Given the description of an element on the screen output the (x, y) to click on. 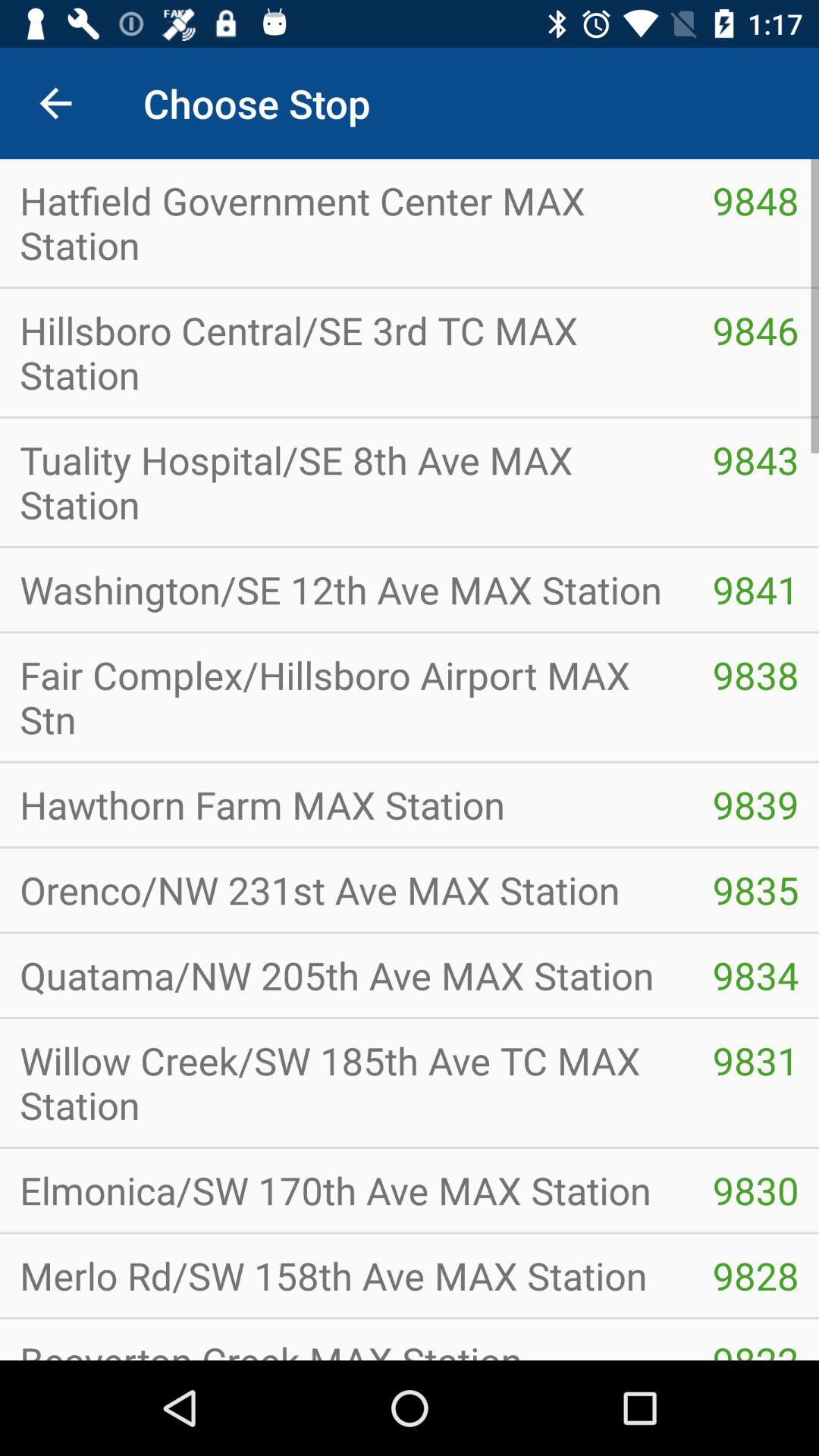
click icon to the left of 9834 (346, 1082)
